Given the description of an element on the screen output the (x, y) to click on. 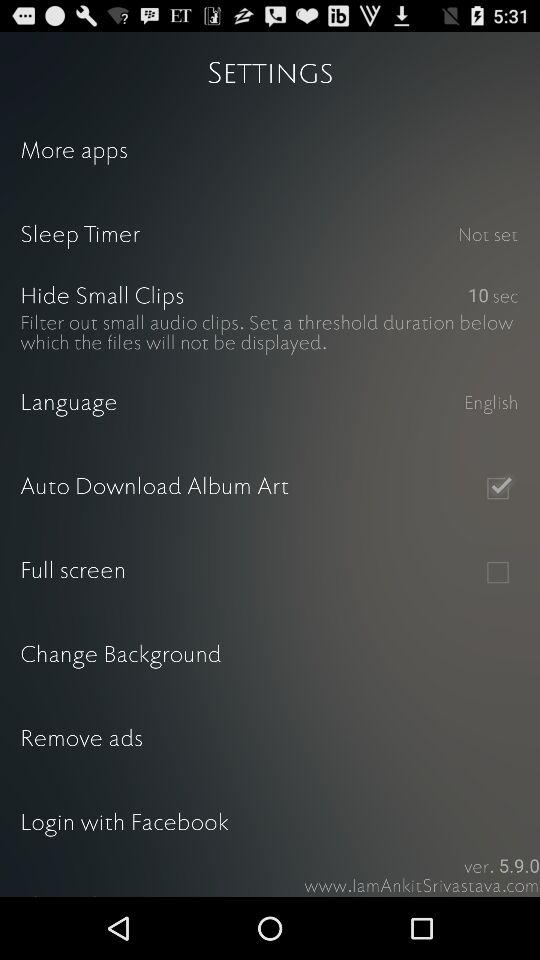
jump until the remove ads item (270, 740)
